Given the description of an element on the screen output the (x, y) to click on. 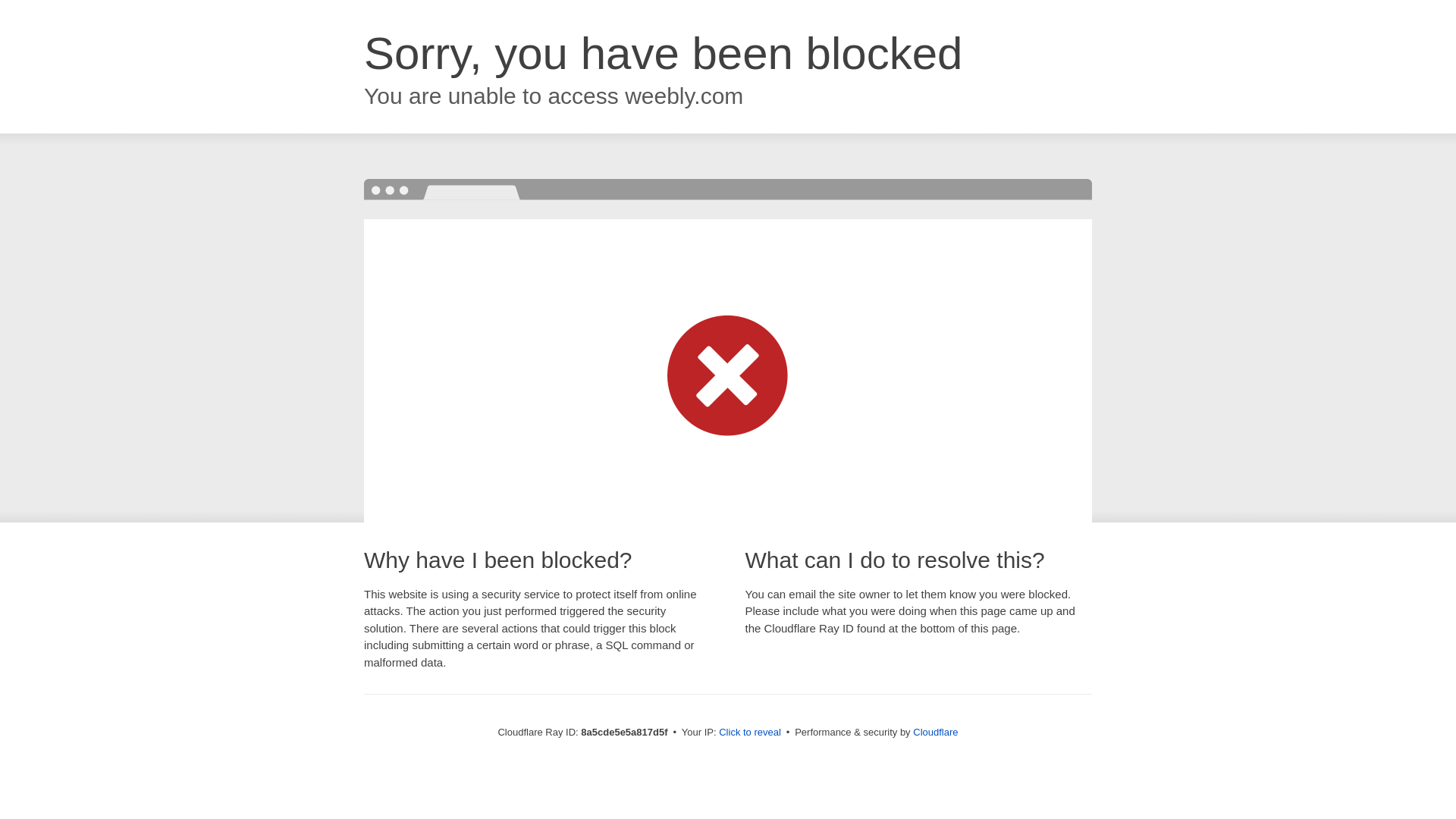
Click to reveal (749, 732)
Cloudflare (935, 731)
